Given the description of an element on the screen output the (x, y) to click on. 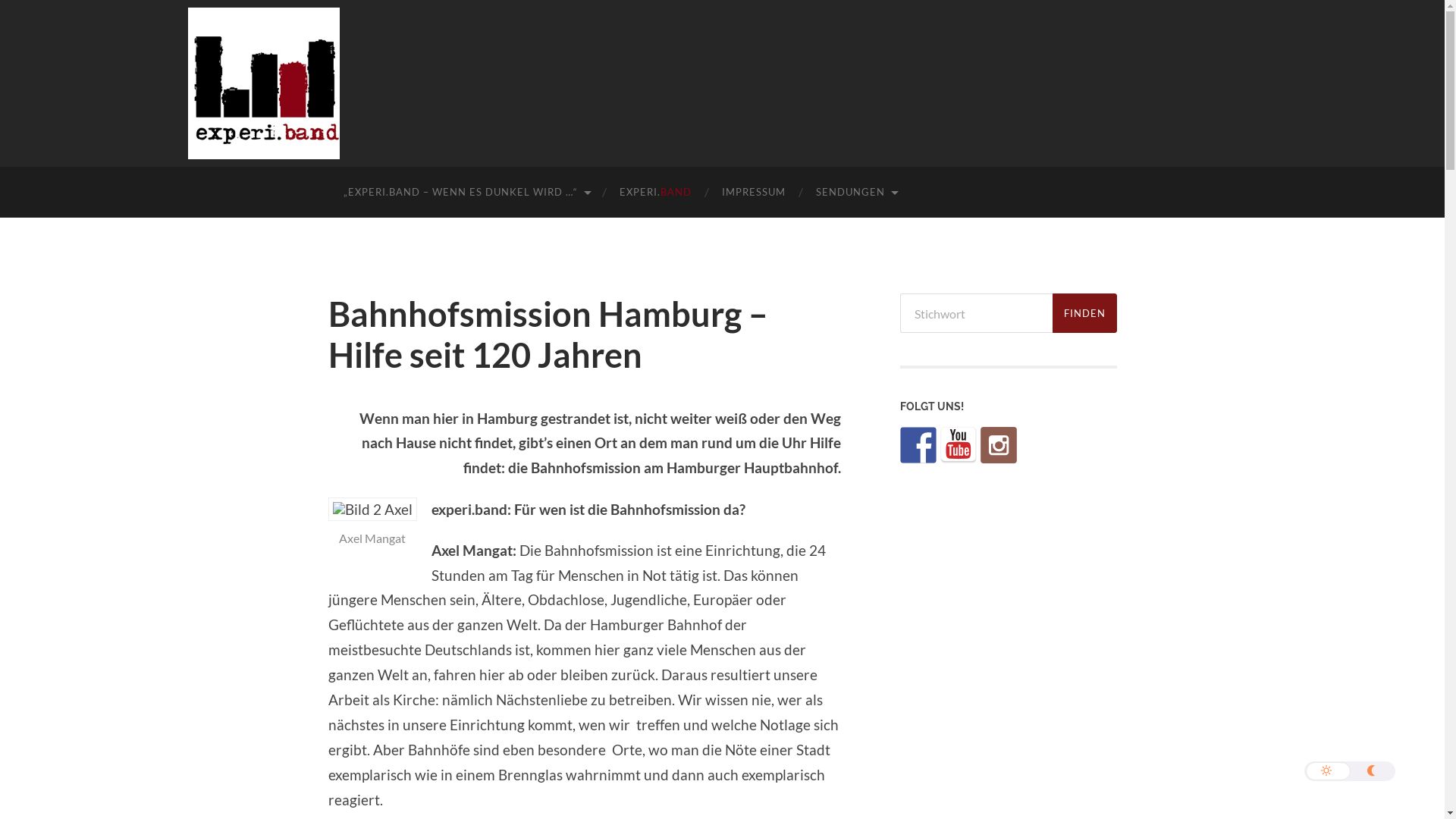
EXPERI.BAND Element type: text (654, 191)
SENDUNGEN Element type: text (855, 191)
IMPRESSUM Element type: text (753, 191)
finden Element type: text (1084, 312)
Besucht uns auf Facebook Element type: hover (917, 444)
Checkt unser Instagram! Element type: hover (997, 444)
Und wir so: Auf YouTube Element type: hover (958, 444)
